Given the description of an element on the screen output the (x, y) to click on. 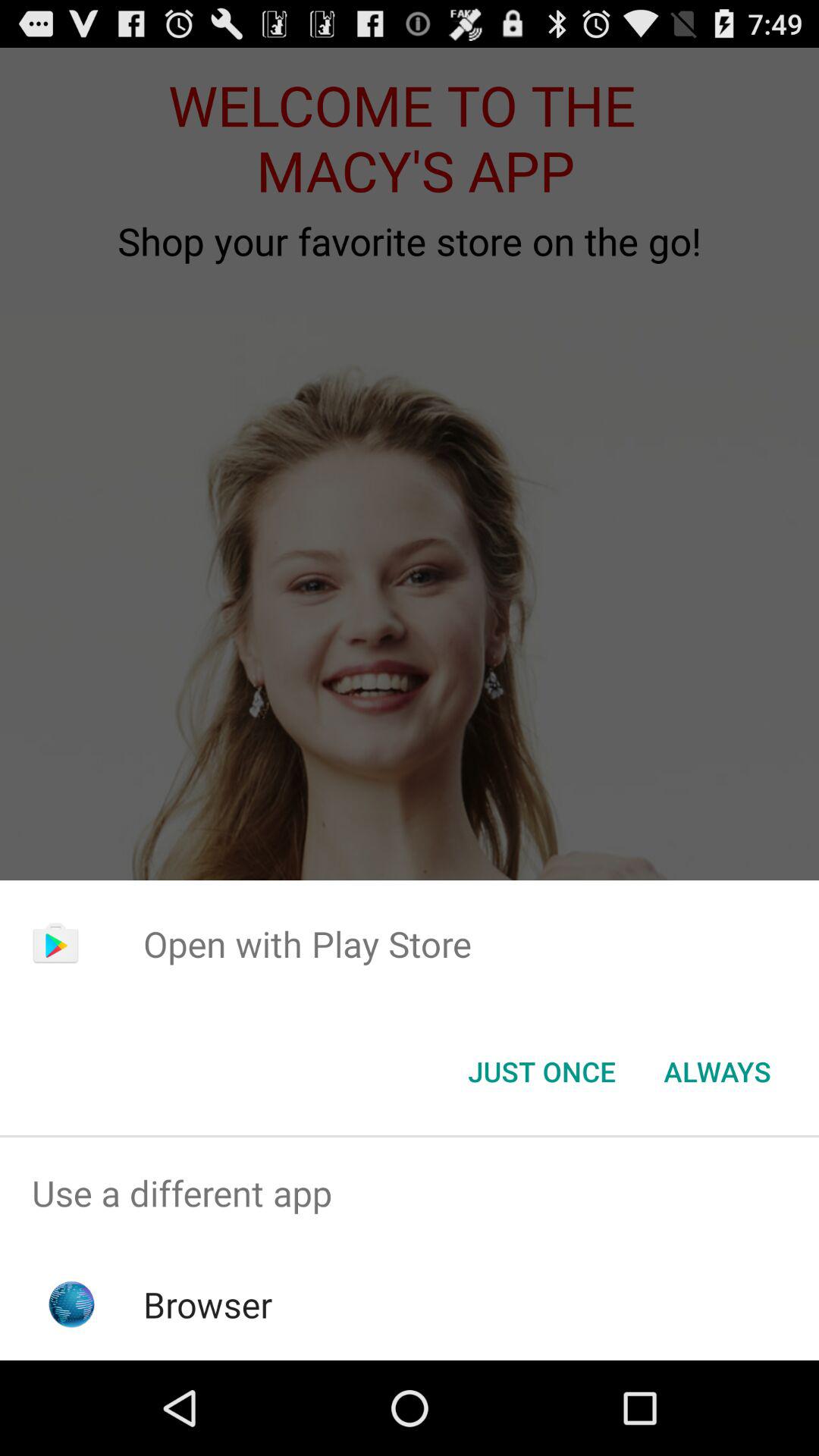
choose item at the bottom right corner (717, 1071)
